Given the description of an element on the screen output the (x, y) to click on. 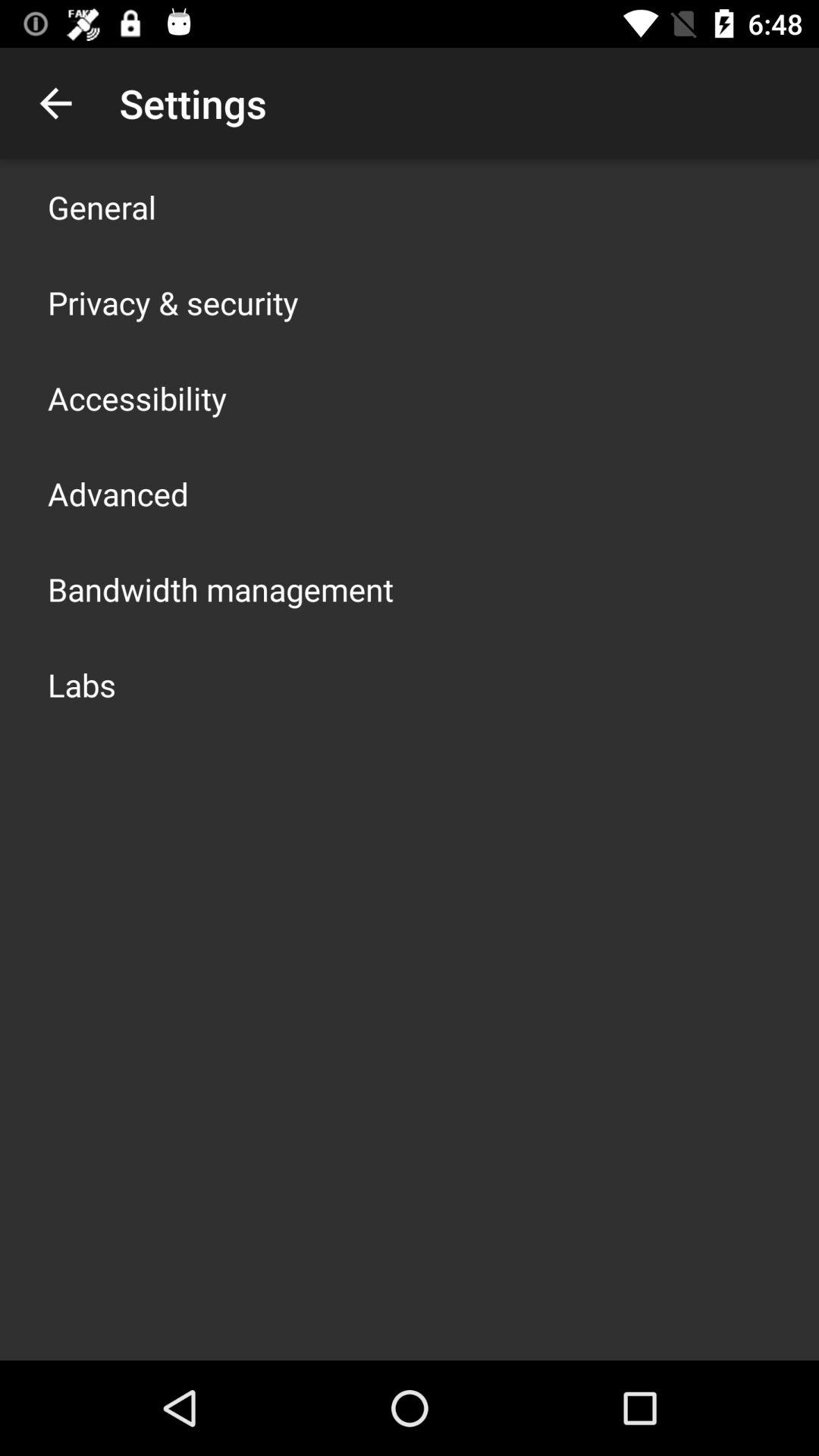
choose app next to settings item (55, 103)
